Given the description of an element on the screen output the (x, y) to click on. 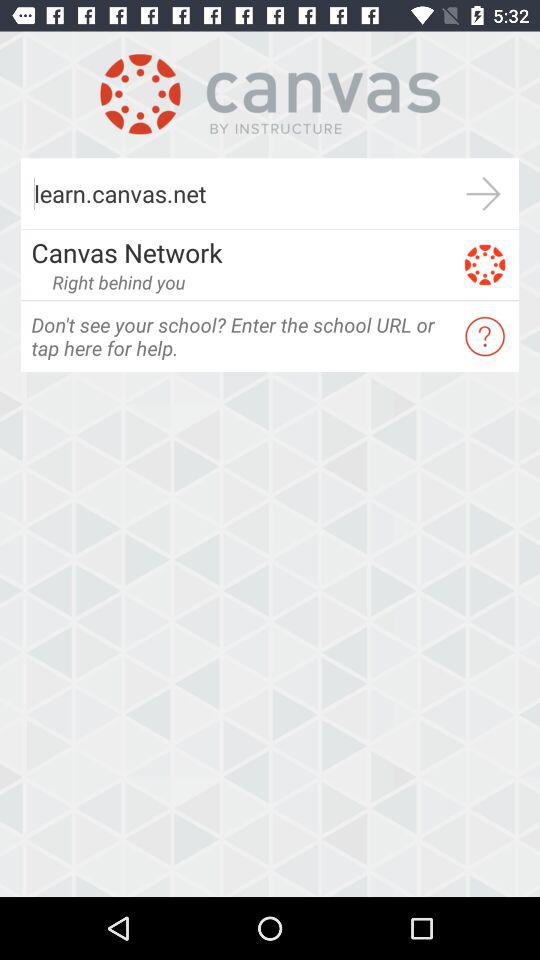
tap item at the top left corner (118, 282)
